Given the description of an element on the screen output the (x, y) to click on. 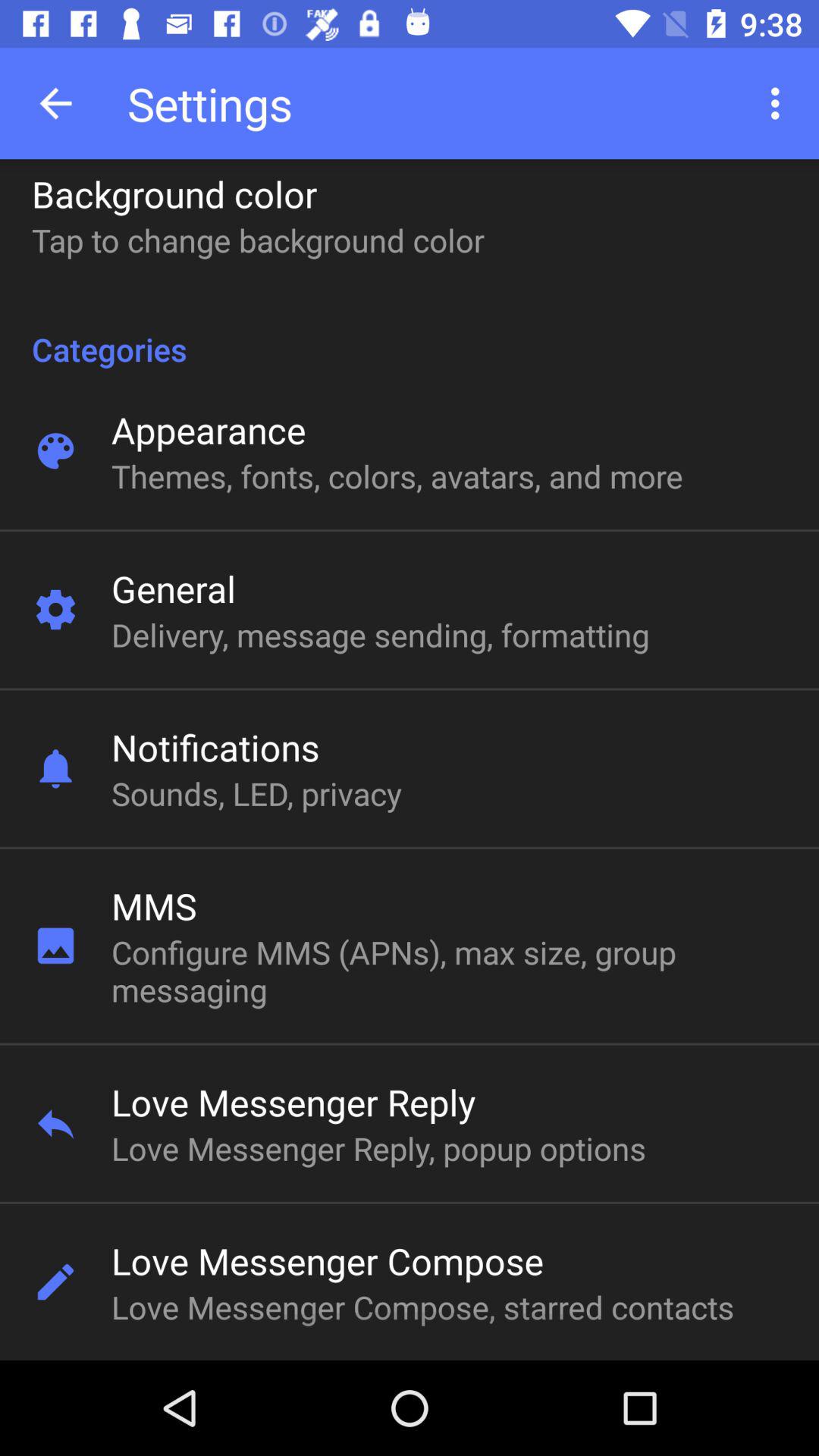
choose item above sounds, led, privacy item (215, 746)
